Given the description of an element on the screen output the (x, y) to click on. 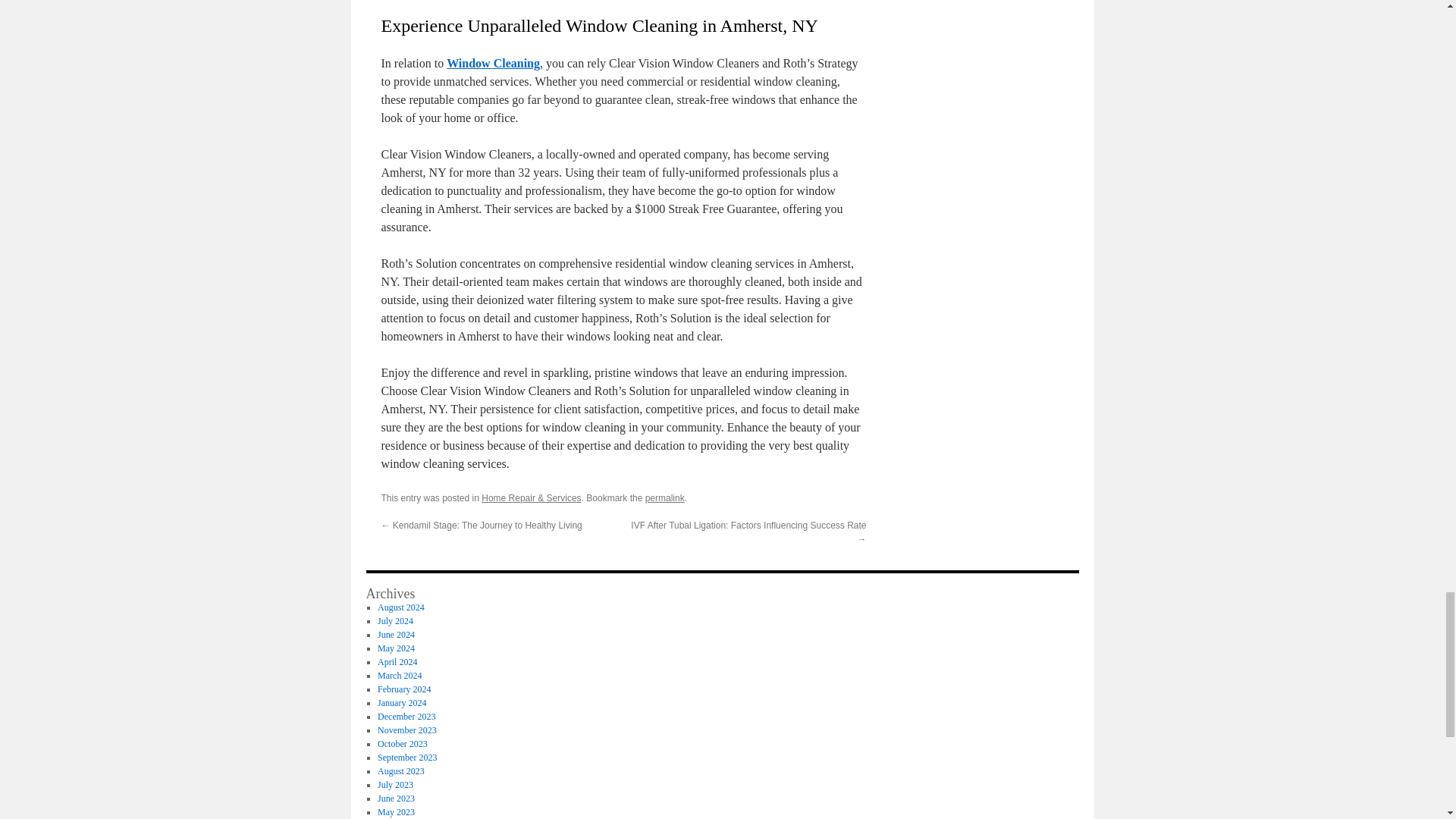
February 2024 (403, 688)
June 2024 (395, 634)
January 2024 (401, 702)
May 2024 (395, 647)
permalink (664, 498)
December 2023 (406, 716)
July 2024 (395, 620)
May 2023 (395, 811)
October 2023 (402, 743)
September 2023 (406, 757)
